Given the description of an element on the screen output the (x, y) to click on. 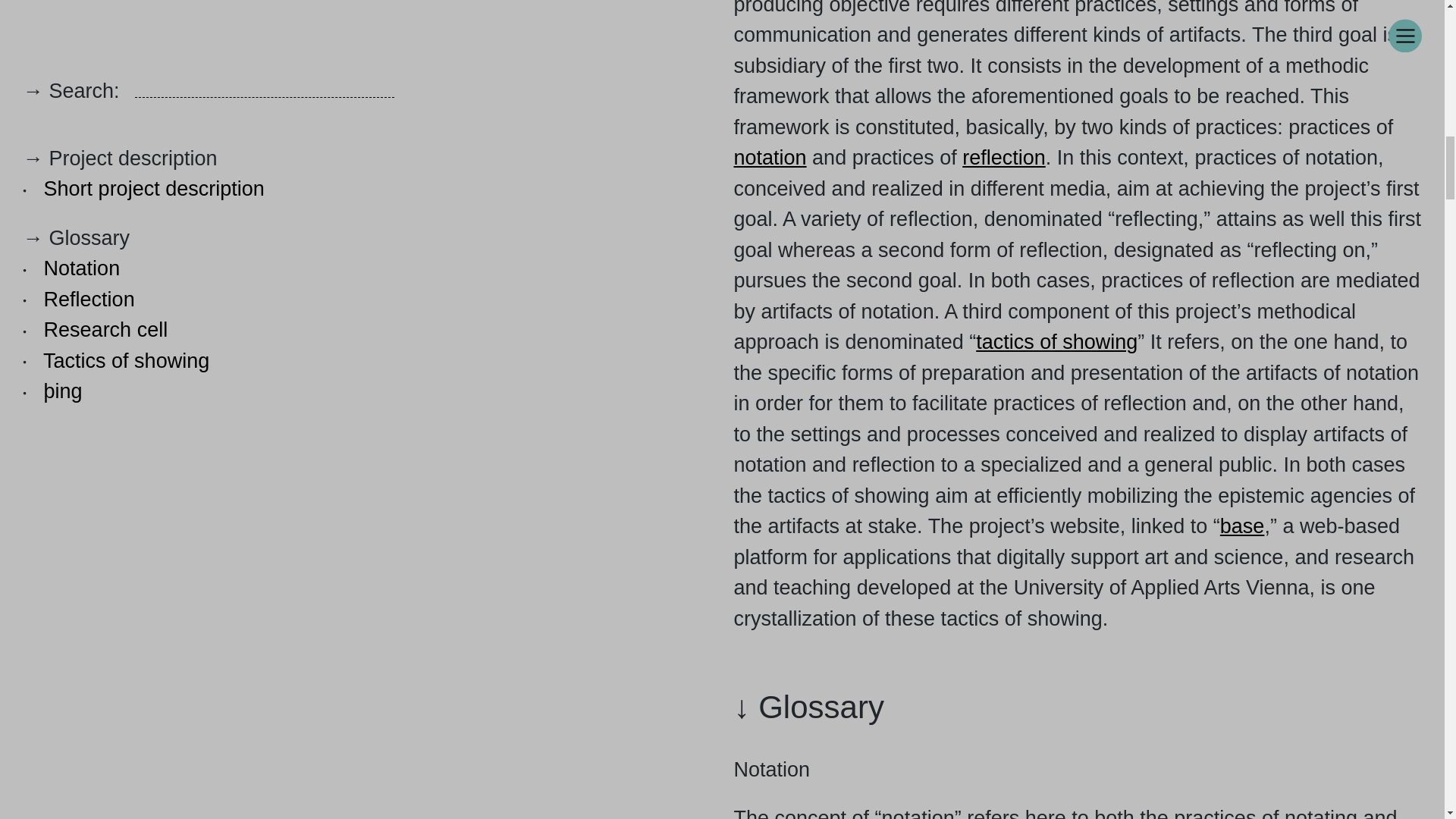
notation (769, 157)
tactics of showing (1056, 341)
reflection (1003, 157)
base (1242, 526)
